Given the description of an element on the screen output the (x, y) to click on. 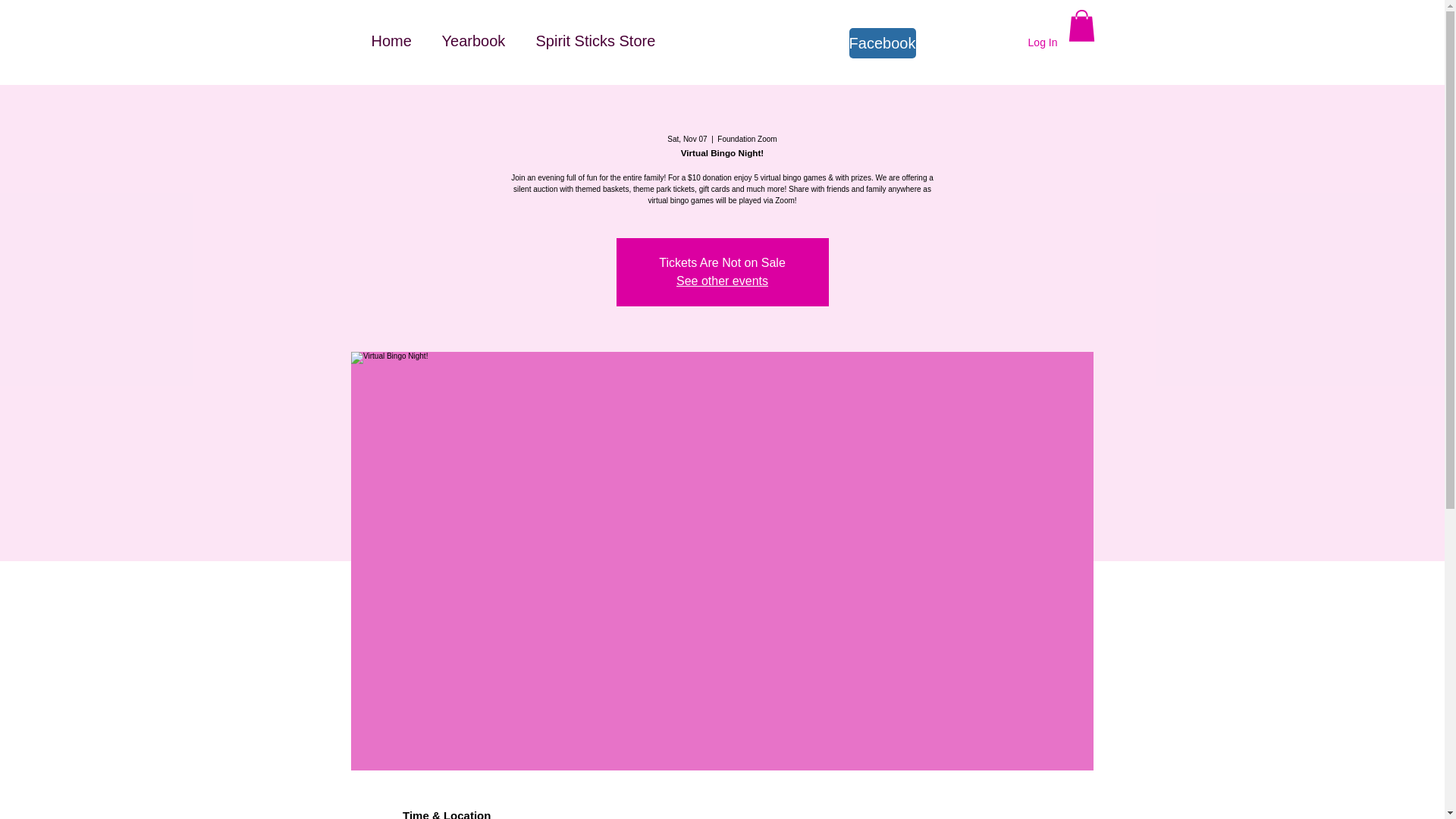
Facebook (881, 42)
Log In (1042, 43)
Spirit Sticks Store (594, 41)
See other events (722, 280)
Yearbook (472, 41)
Home (391, 41)
